Given the description of an element on the screen output the (x, y) to click on. 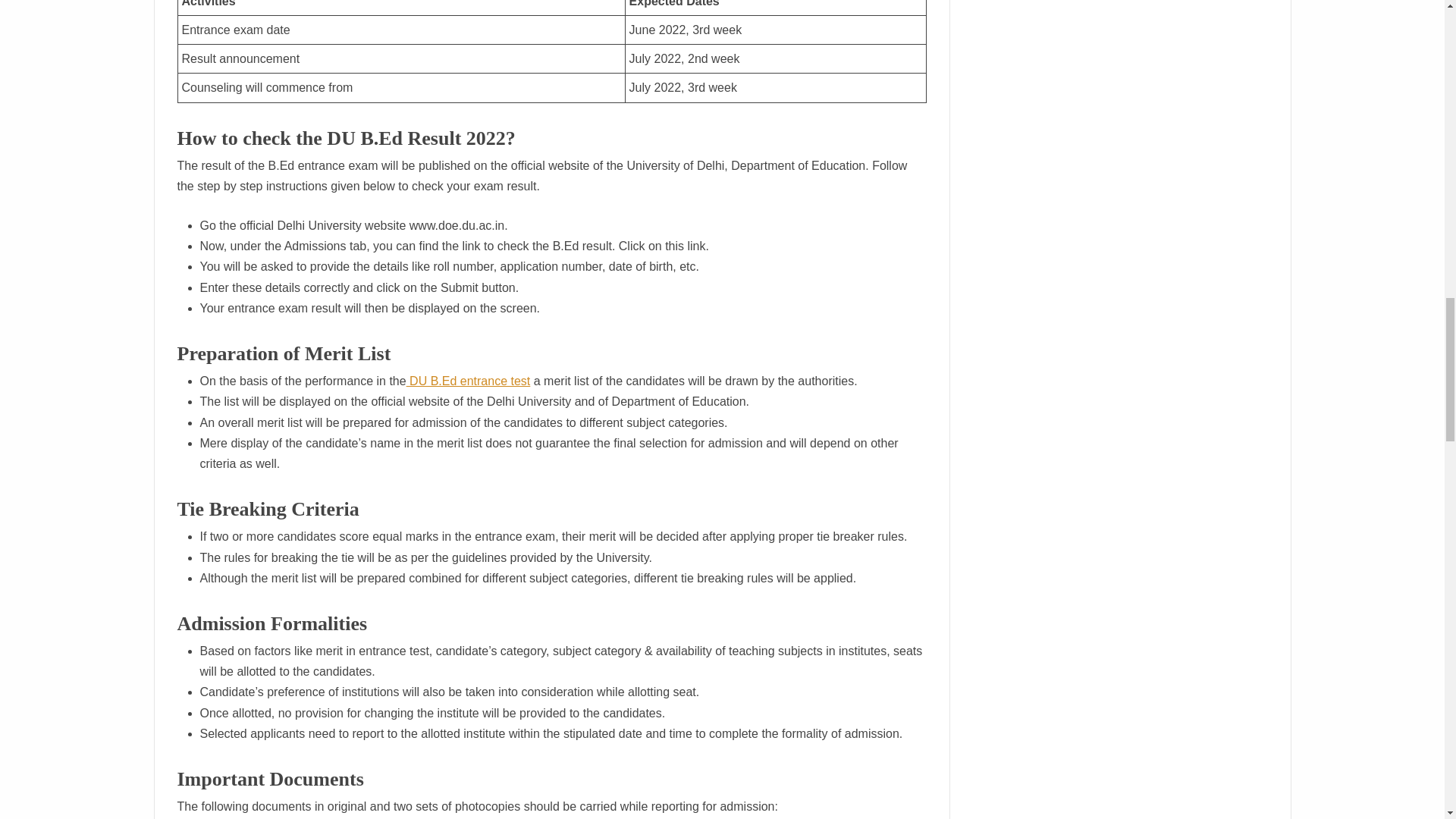
DU B.Ed entrance test (468, 380)
